Given the description of an element on the screen output the (x, y) to click on. 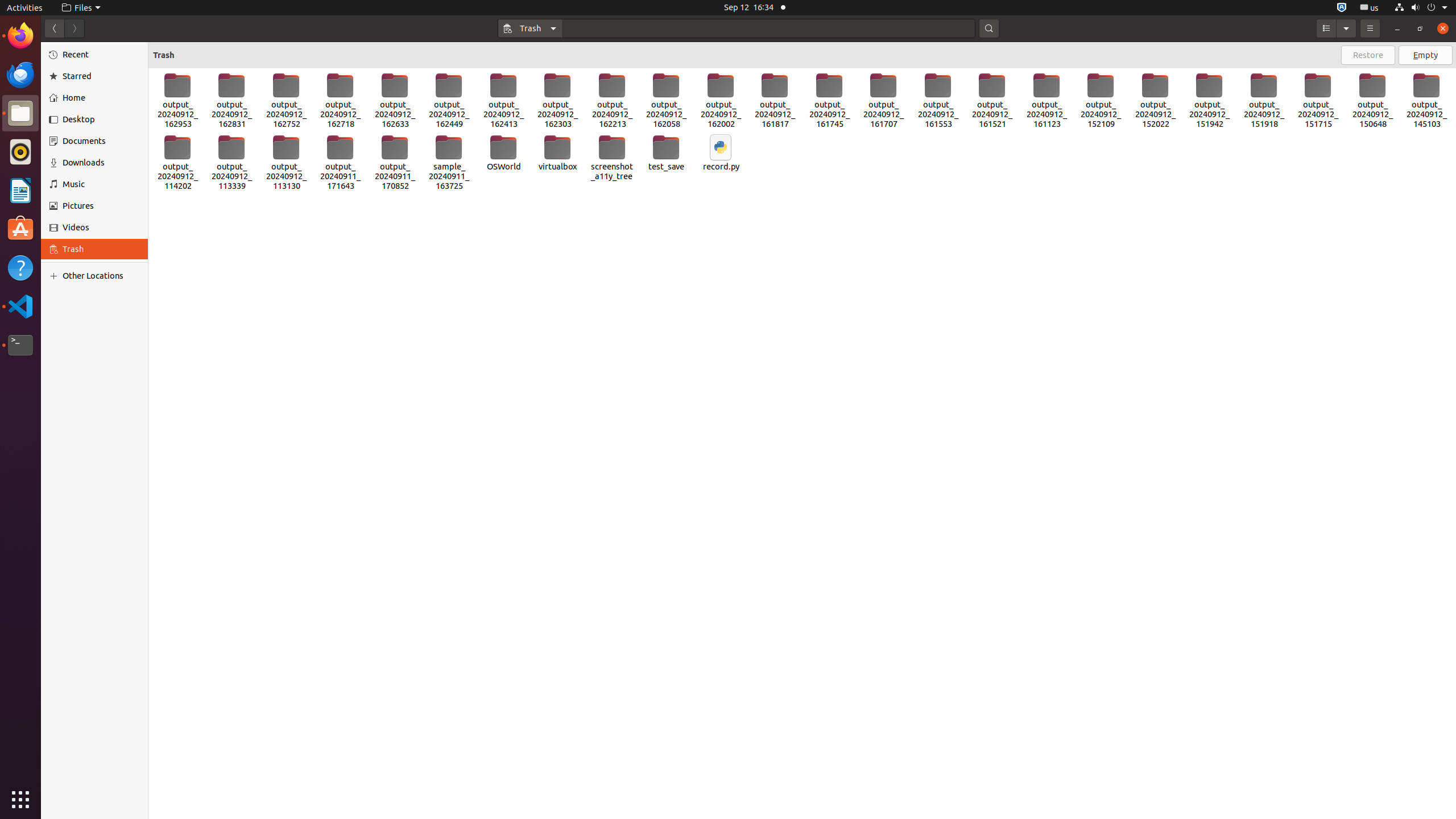
output_20240912_162633 Element type: canvas (394, 100)
output_20240912_162213 Element type: canvas (611, 100)
